Given the description of an element on the screen output the (x, y) to click on. 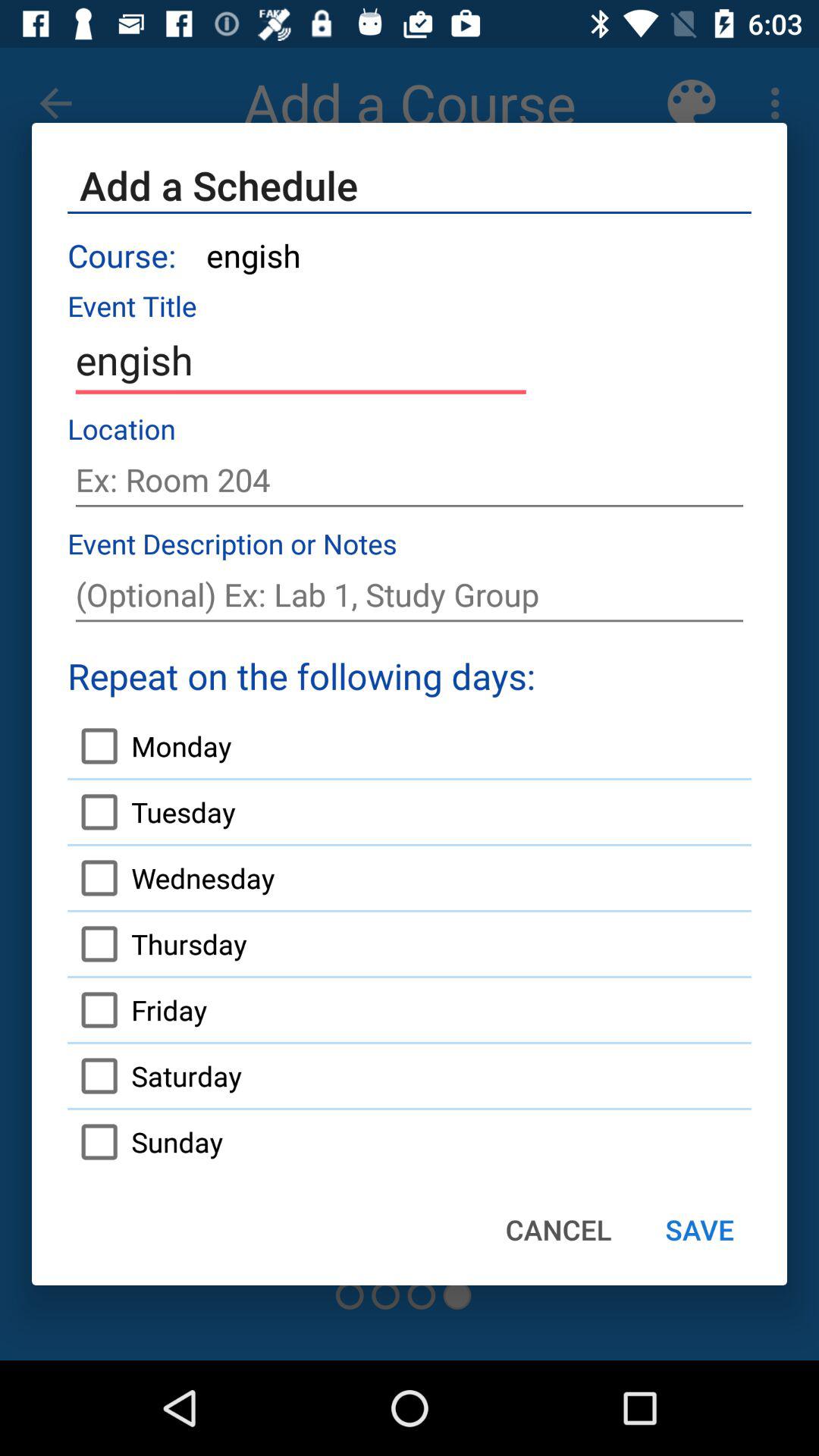
launch the item above event description or icon (409, 479)
